Given the description of an element on the screen output the (x, y) to click on. 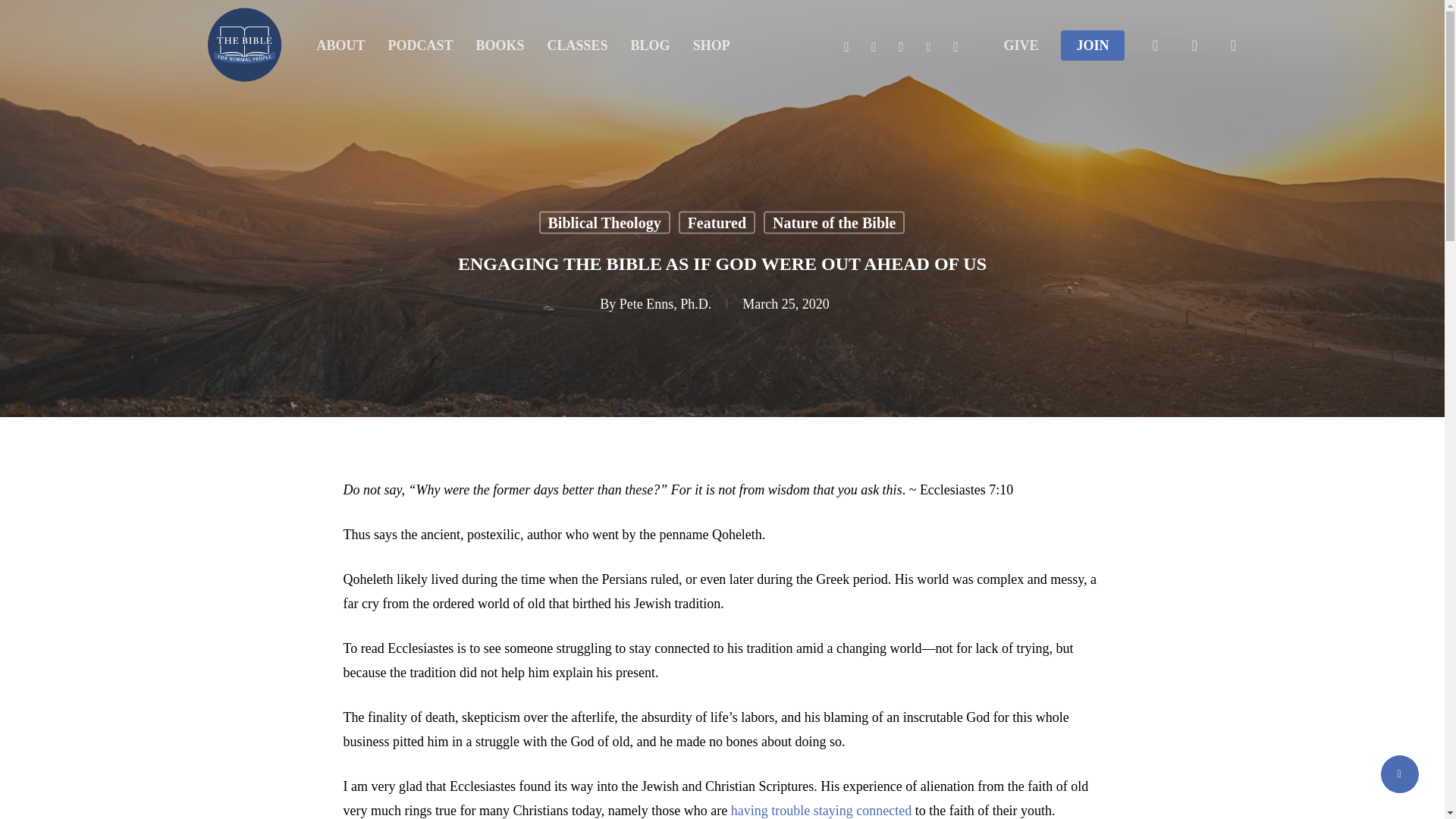
Menu (1415, 7)
FACEBOOK (846, 45)
Nature of the Bible (833, 221)
Biblical Theology (603, 221)
Featured (716, 221)
YOUTUBE (873, 45)
GIVE (1020, 45)
JOIN (1092, 45)
Posts by Pete Enns, Ph.D. (665, 303)
SHOP (711, 45)
INSTAGRAM (900, 45)
EMAIL (955, 45)
search (1155, 45)
TIKTOK (928, 45)
ABOUT (341, 45)
